Given the description of an element on the screen output the (x, y) to click on. 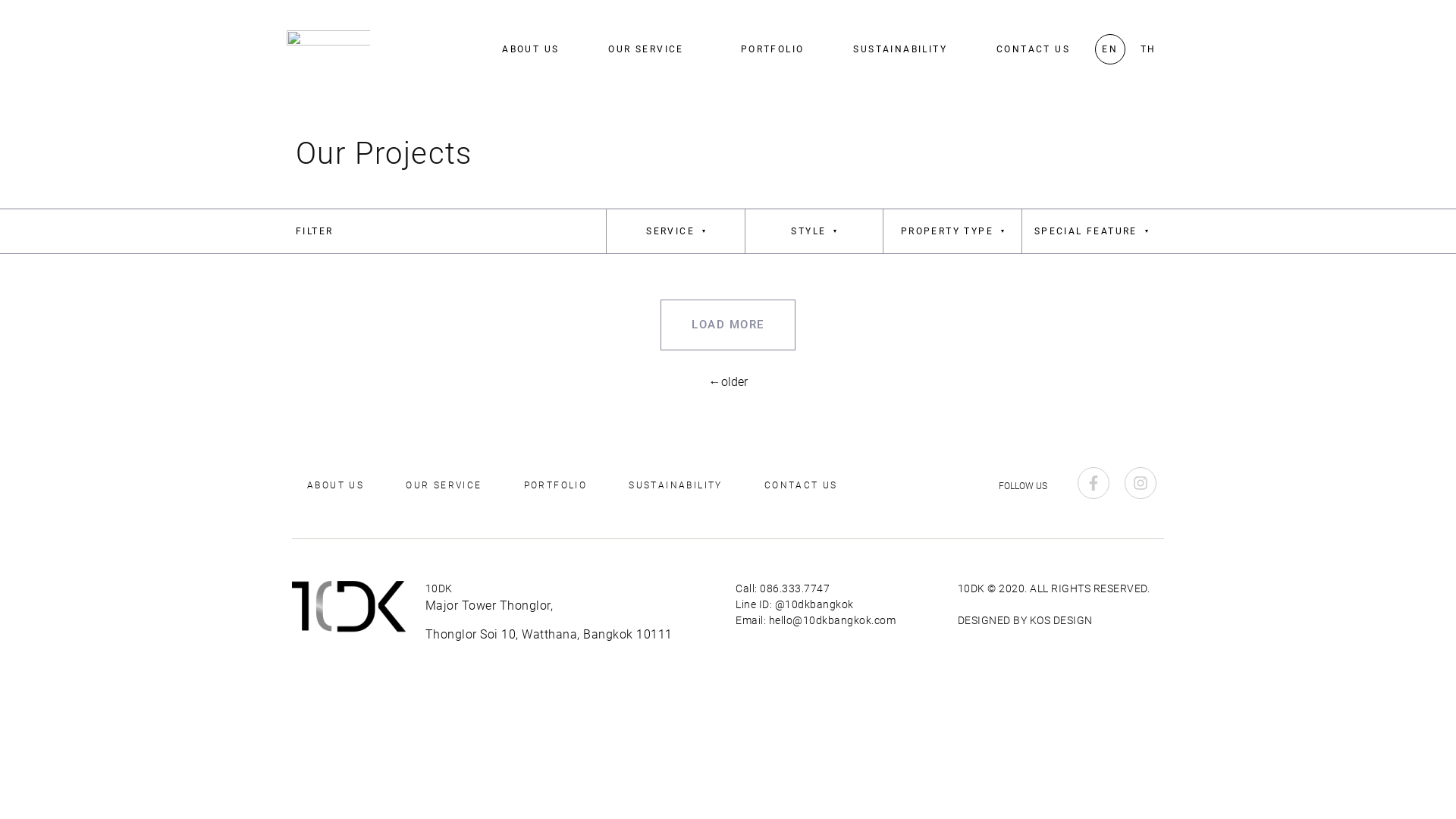
ABOUT US Element type: text (530, 48)
PORTFOLIO Element type: text (555, 484)
OUR SERVICE Element type: text (649, 48)
ABOUT US Element type: text (335, 484)
SUSTAINABILITY Element type: text (899, 48)
LOAD MORE Element type: text (727, 324)
CONTACT US Element type: text (801, 484)
SUSTAINABILITY Element type: text (675, 484)
EN Element type: text (1110, 49)
CONTACT US Element type: text (1033, 48)
PORTFOLIO Element type: text (772, 48)
TH Element type: text (1140, 49)
OUR SERVICE Element type: text (443, 484)
logo-dark Element type: hover (348, 606)
